Given the description of an element on the screen output the (x, y) to click on. 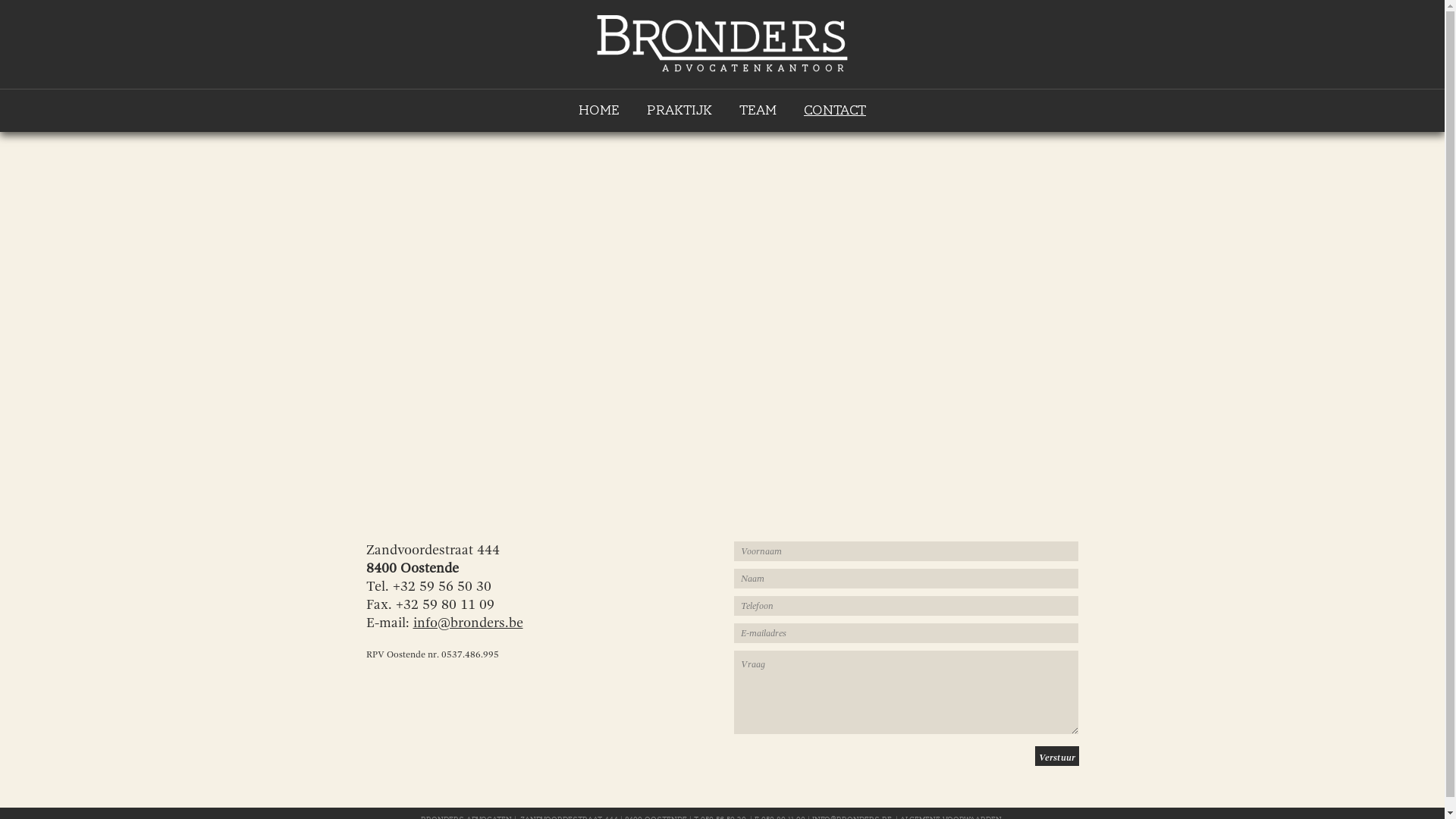
Praktijk Element type: text (679, 110)
Team Element type: text (757, 110)
Contact Element type: text (834, 110)
Home Element type: text (598, 110)
Verstuur Element type: text (1056, 755)
info@bronders.be Element type: text (467, 622)
Bronders Element type: hover (721, 68)
